Given the description of an element on the screen output the (x, y) to click on. 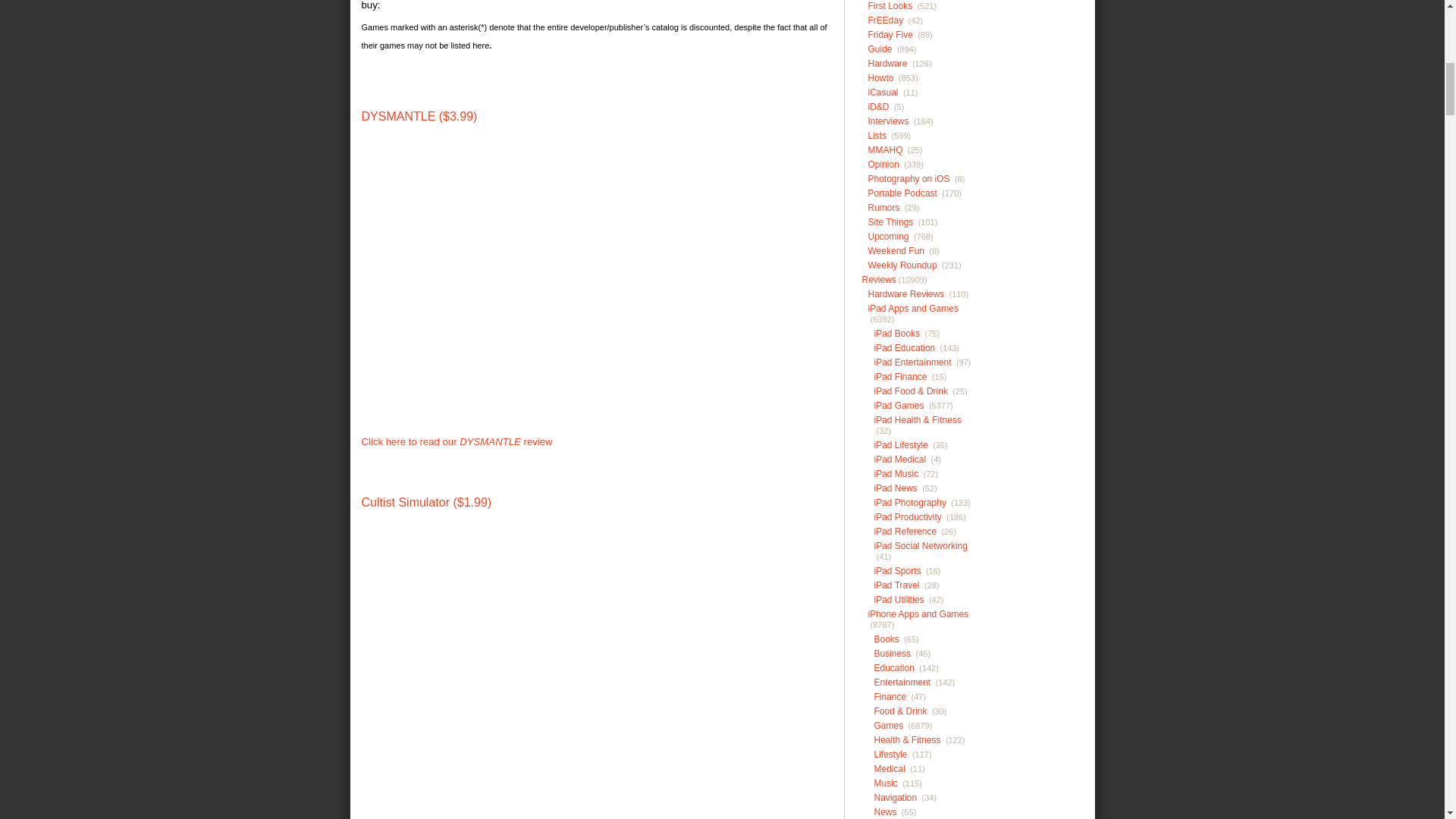
Click here to read our DYSMANTLE review (456, 441)
